Given the description of an element on the screen output the (x, y) to click on. 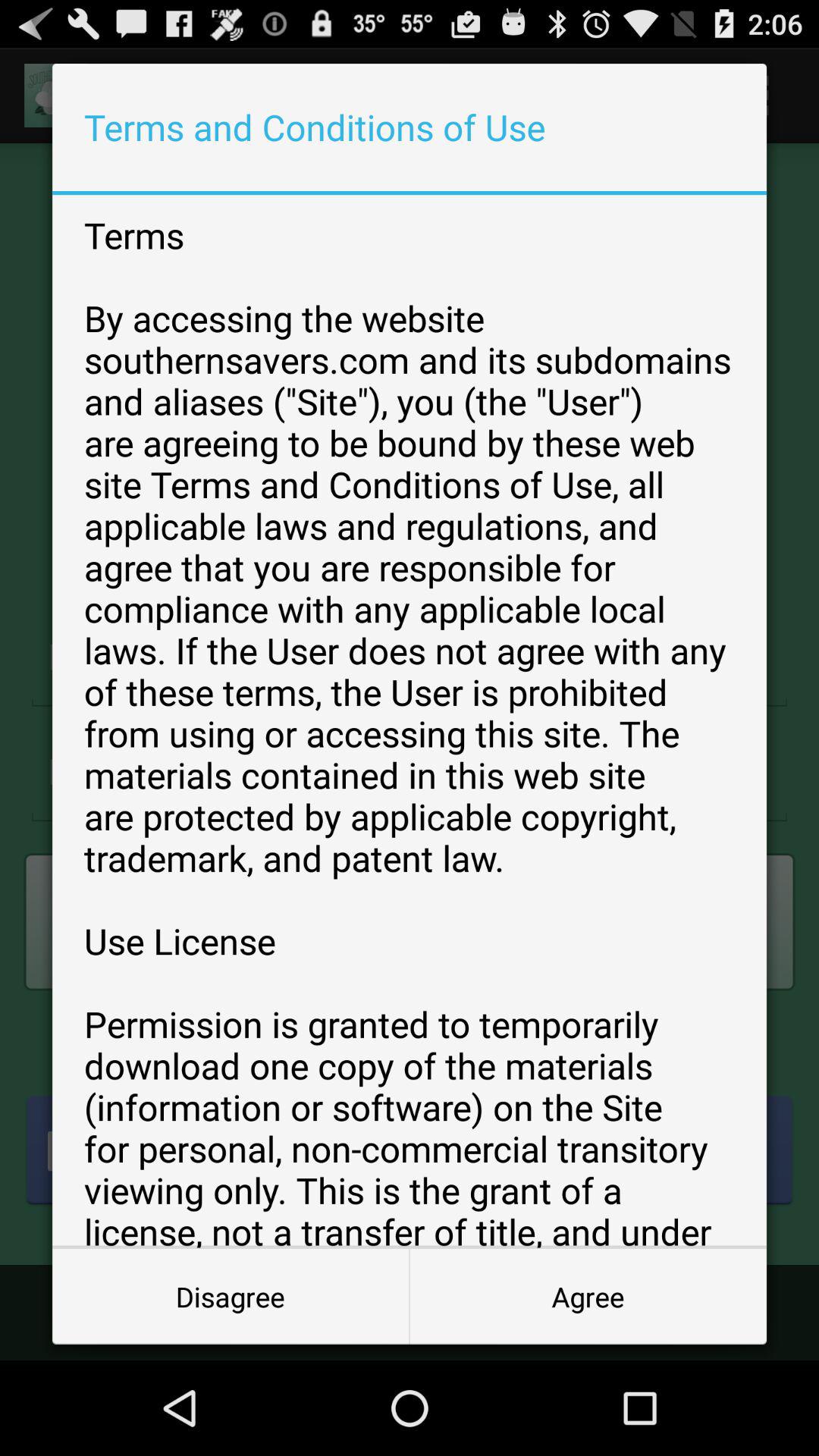
click the icon to the right of the disagree item (588, 1296)
